Given the description of an element on the screen output the (x, y) to click on. 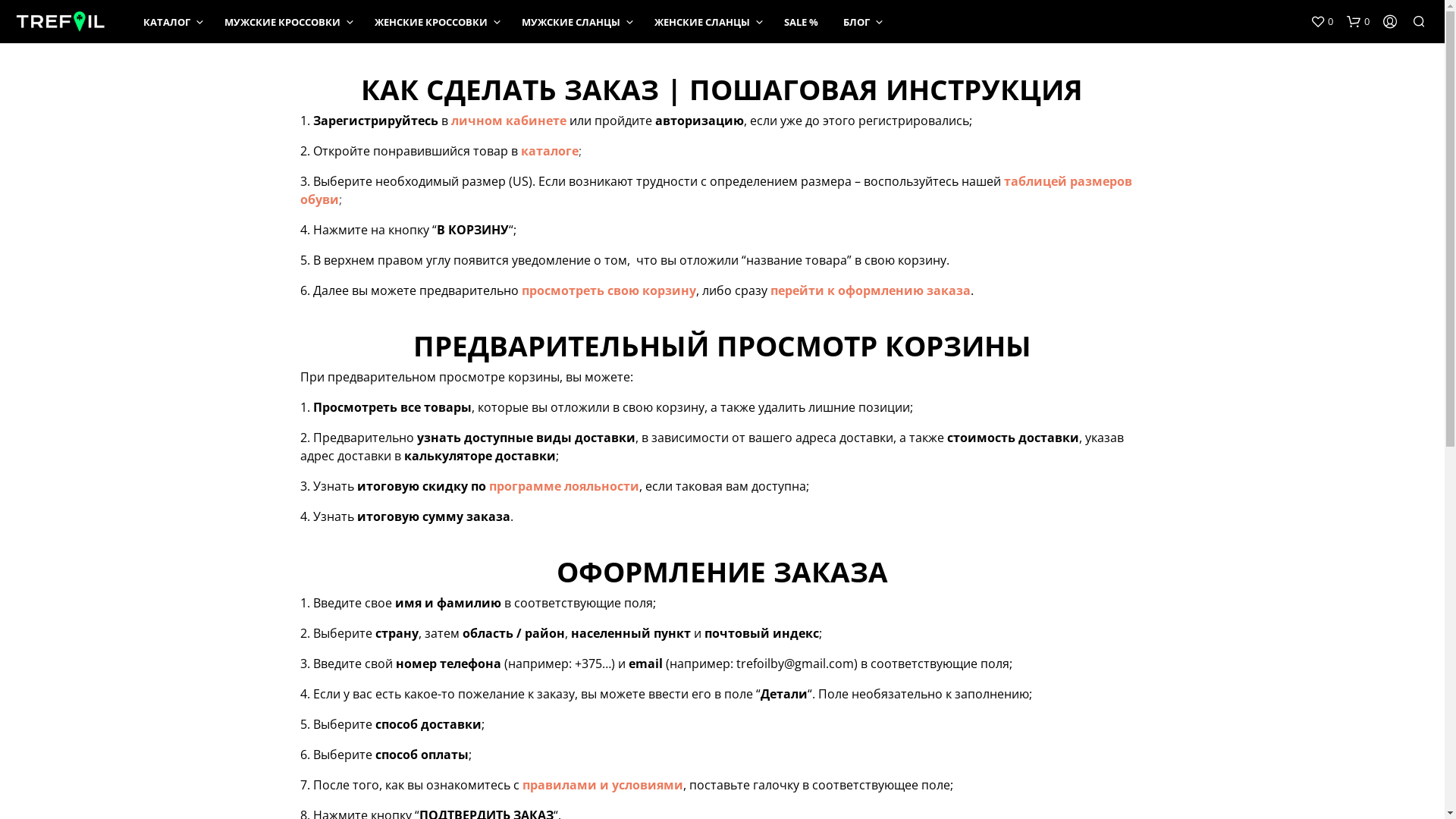
SALE % Element type: text (800, 22)
0 Element type: text (1321, 21)
0 Element type: text (1357, 21)
